Given the description of an element on the screen output the (x, y) to click on. 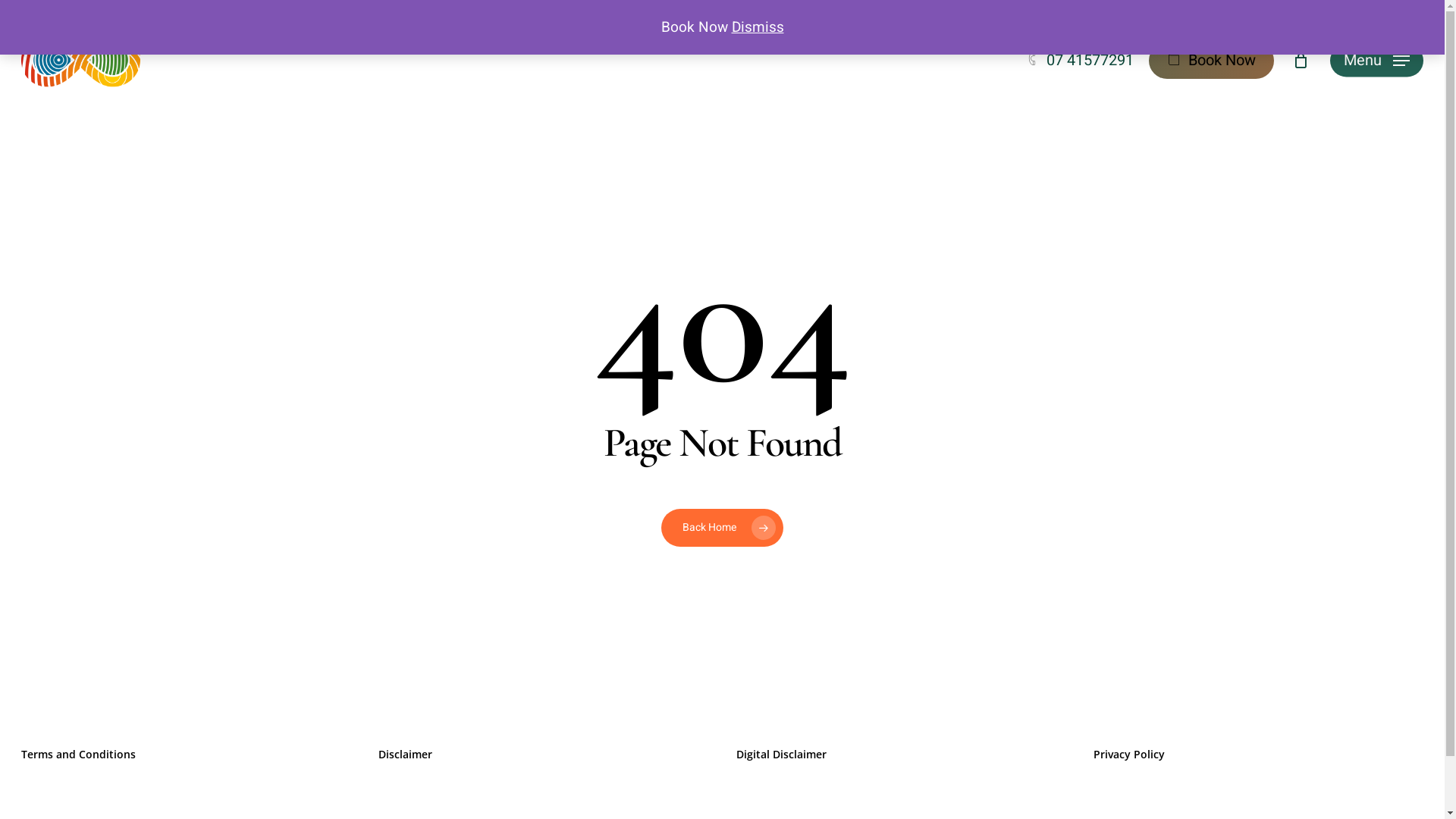
Dismiss Element type: text (757, 26)
Menu Element type: text (1376, 61)
Terms and Conditions Element type: text (78, 753)
Back Home Element type: text (722, 527)
Disclaimer Element type: text (405, 753)
07 41577291 Element type: text (1079, 60)
Privacy Policy Element type: text (1128, 753)
Digital Disclaimer Element type: text (781, 753)
Book Now Element type: text (1211, 60)
